Given the description of an element on the screen output the (x, y) to click on. 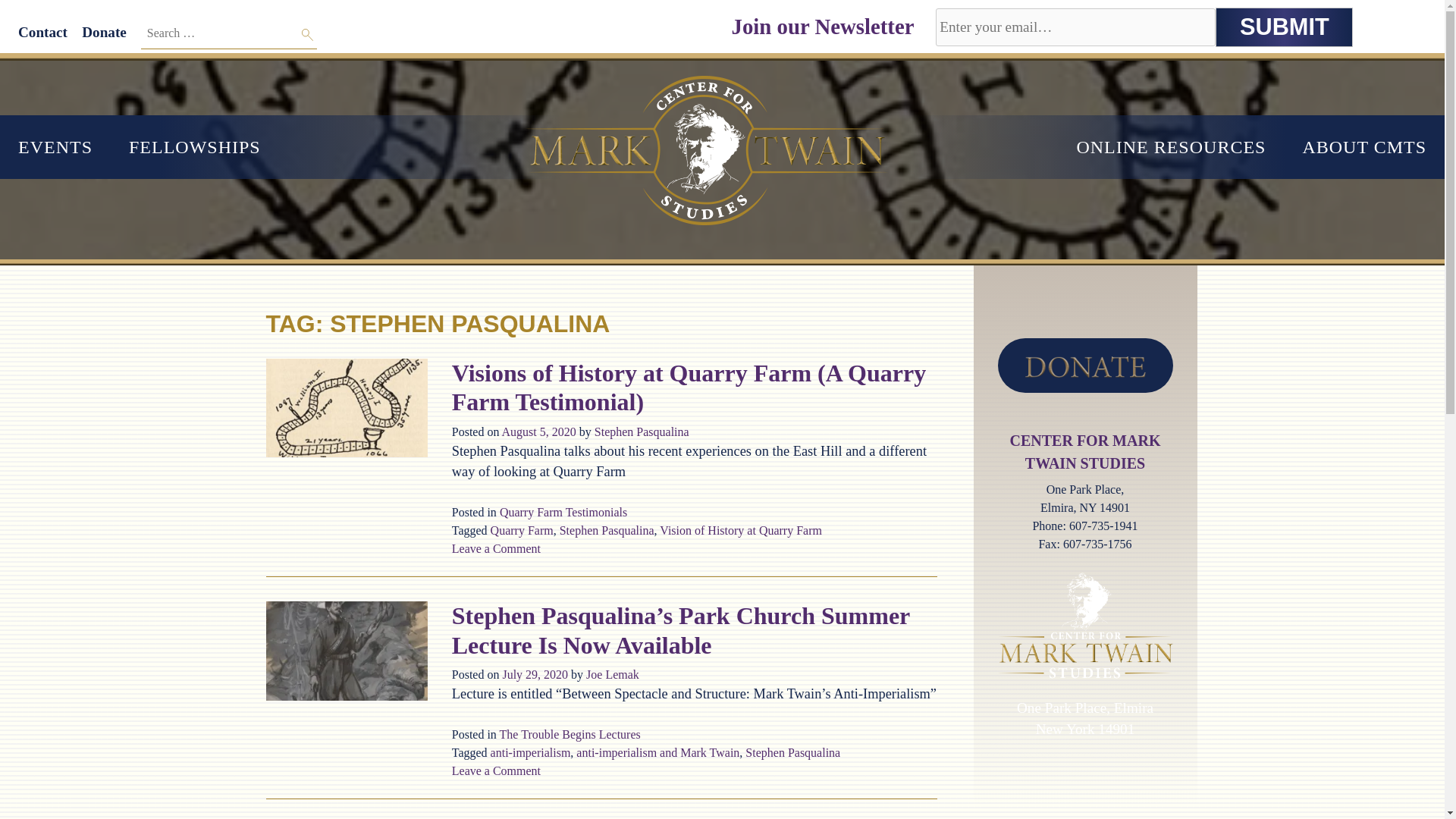
EVENTS (55, 147)
ONLINE RESOURCES (1171, 147)
Submit (1283, 26)
Submit (1283, 26)
Contact (41, 32)
FELLOWSHIPS (194, 147)
Center for Mark Twain Studies (75, 69)
Search (307, 34)
Donate (103, 32)
